Given the description of an element on the screen output the (x, y) to click on. 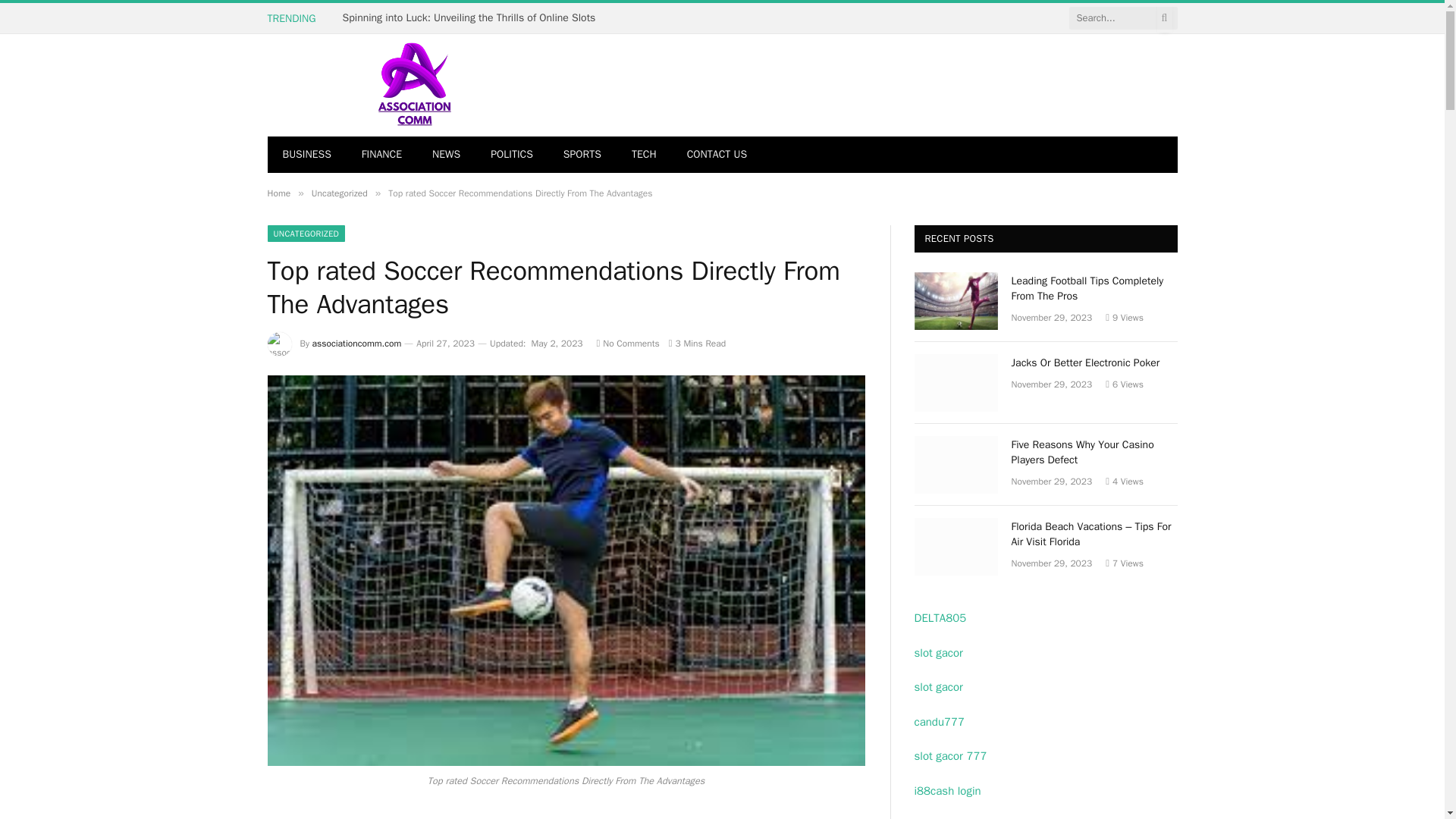
BUSINESS (306, 154)
TECH (643, 154)
NEWS (446, 154)
POLITICS (512, 154)
Posts by associationcomm.com (357, 343)
Spinning into Luck: Unveiling the Thrills of Online Slots (473, 18)
9 Article Views (1123, 317)
FINANCE (381, 154)
SPORTS (581, 154)
UNCATEGORIZED (305, 233)
Home (277, 193)
Uncategorized (339, 193)
associationcomm.com (357, 343)
No Comments (627, 343)
